Given the description of an element on the screen output the (x, y) to click on. 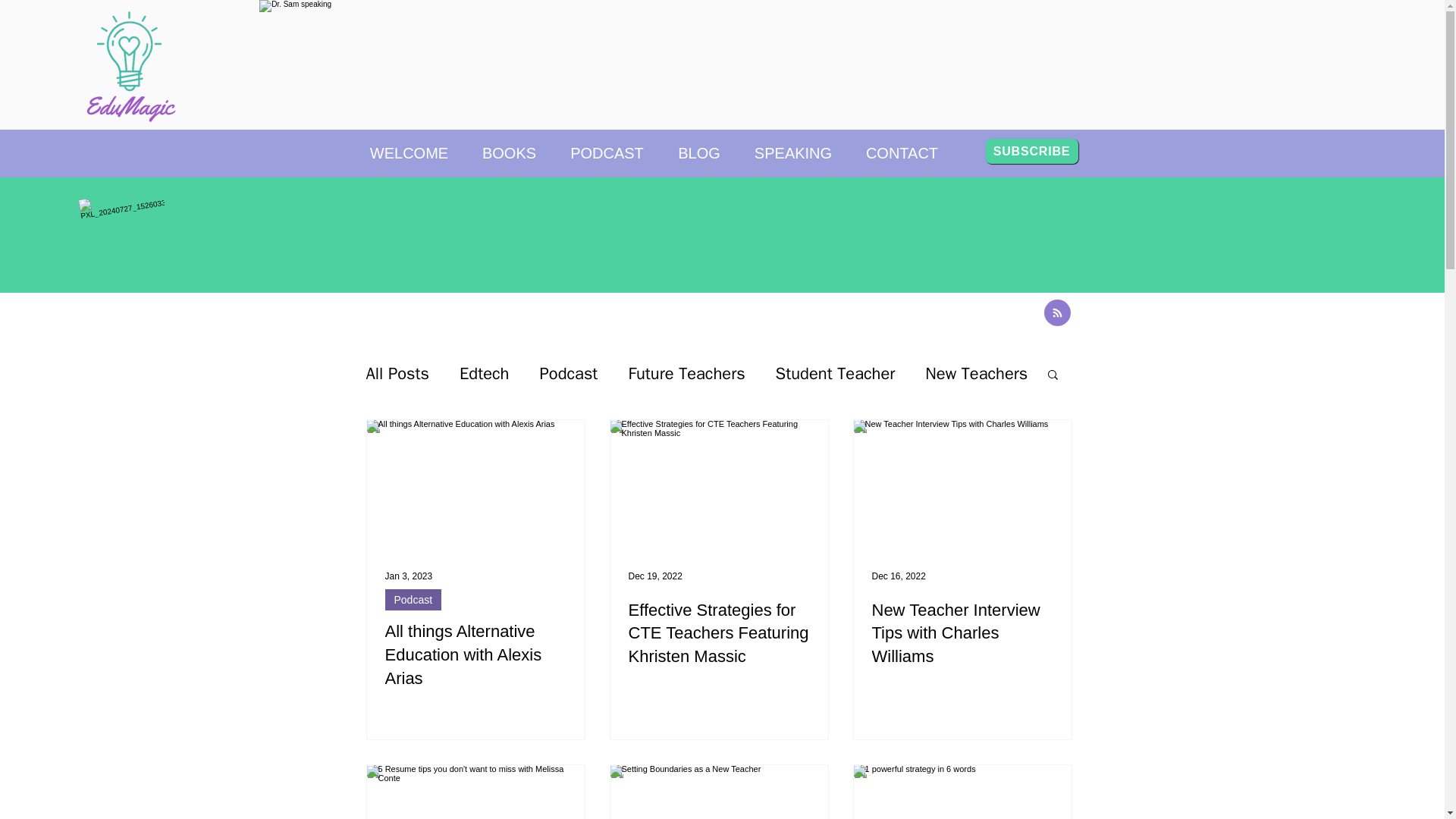
Jan 3, 2023 (408, 575)
PODCAST (607, 146)
New Teachers (975, 373)
CONTACT (901, 146)
BLOG (699, 146)
Edtech (484, 373)
New Teacher Interview Tips with Charles Williams (962, 633)
Dec 16, 2022 (899, 575)
SUBSCRIBE (1031, 150)
